Given the description of an element on the screen output the (x, y) to click on. 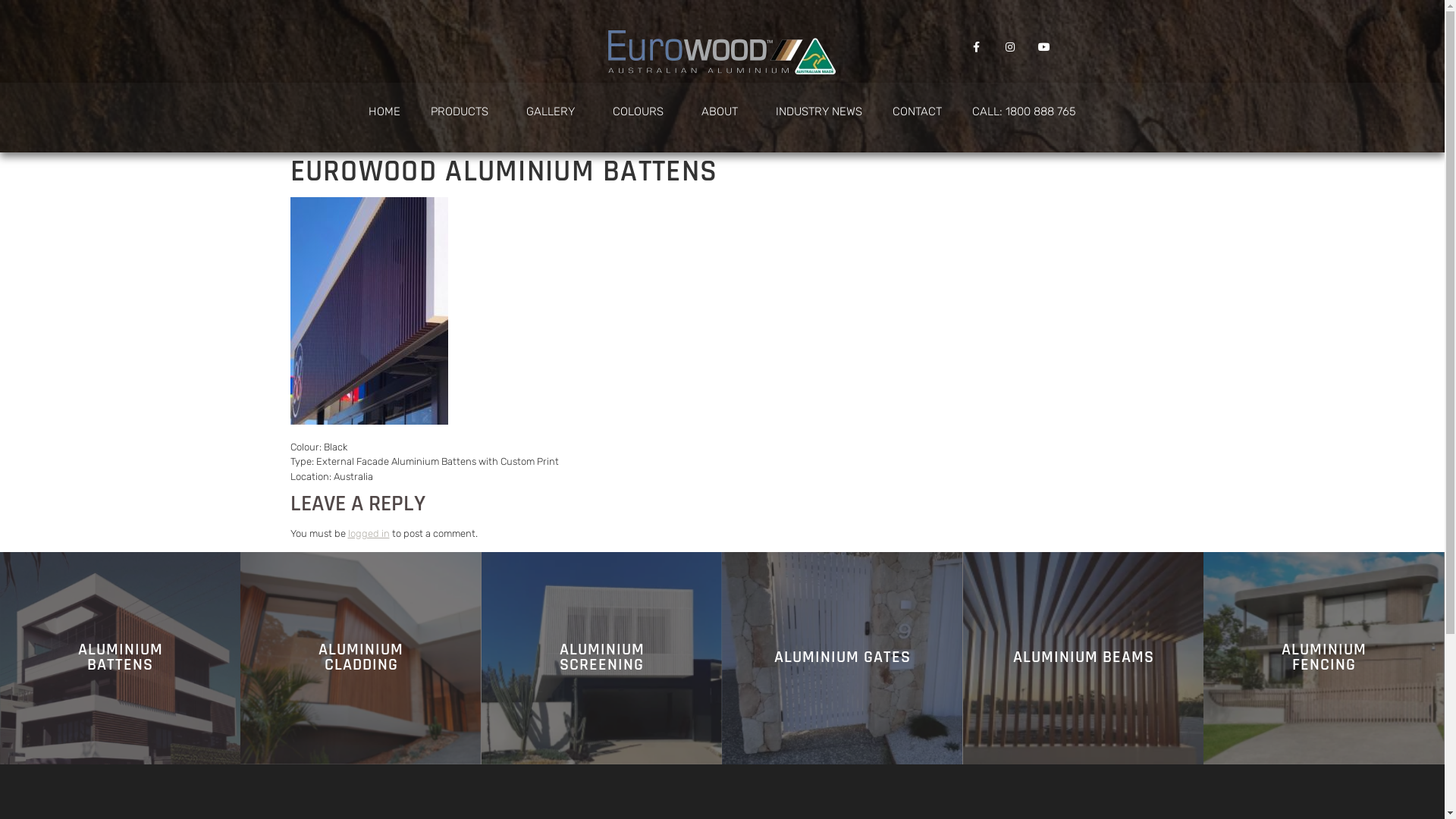
ALUMINIUM BATTENS Element type: text (119, 657)
ALUMINIUM FENCING Element type: text (1323, 657)
GALLERY Element type: text (554, 111)
logged in Element type: text (368, 533)
COLOURS Element type: text (641, 111)
ALUMINIUM CLADDING Element type: text (360, 657)
CONTACT Element type: text (917, 111)
HOME Element type: text (384, 111)
ALUMINIUM BEAMS Element type: text (1083, 657)
ALUMINIUM GATES Element type: text (842, 657)
ALUMINIUM SCREENING Element type: text (601, 657)
CALL: 1800 888 765 Element type: text (1024, 111)
ABOUT Element type: text (723, 111)
INDUSTRY NEWS Element type: text (818, 111)
PRODUCTS Element type: text (463, 111)
